Given the description of an element on the screen output the (x, y) to click on. 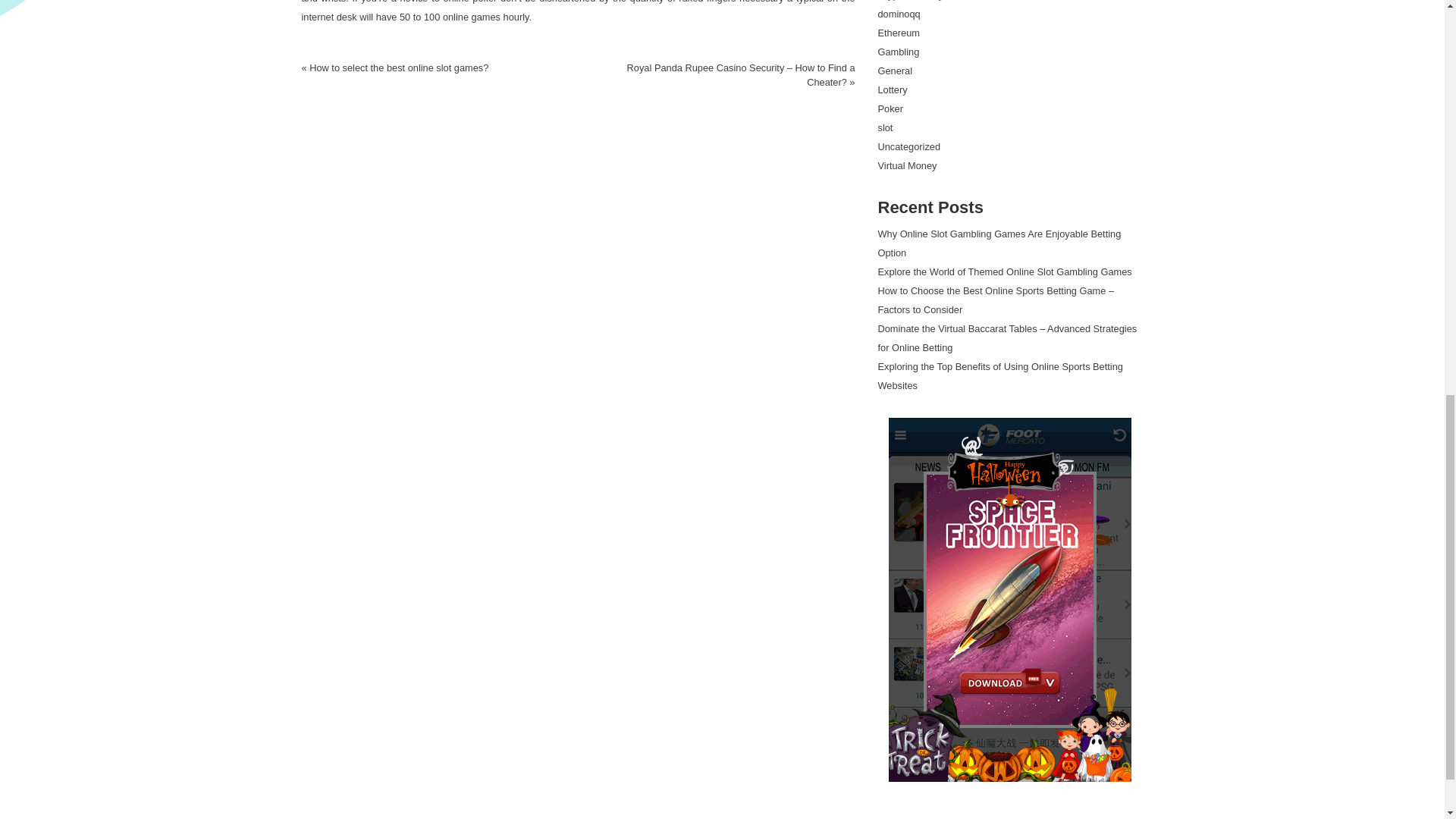
Uncategorized (908, 146)
General (894, 70)
dominoqq (898, 13)
Lottery (892, 89)
Poker (889, 108)
Explore the World of Themed Online Slot Gambling Games (1004, 271)
Why Online Slot Gambling Games Are Enjoyable Betting Option (999, 243)
Ethereum (898, 32)
Virtual Money (907, 165)
